Given the description of an element on the screen output the (x, y) to click on. 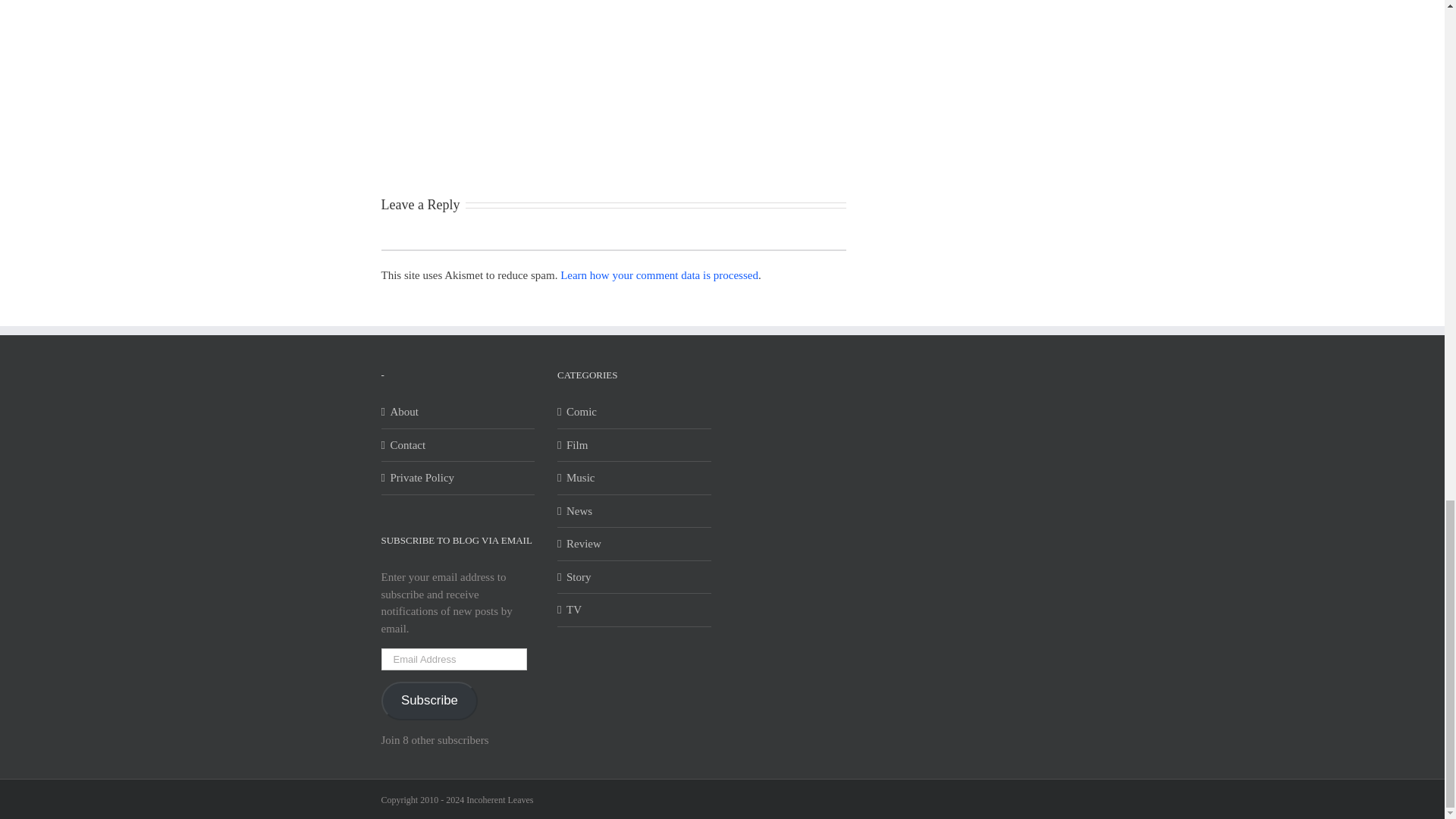
Film (634, 445)
TV (634, 610)
Learn how your comment data is processed (659, 275)
News (634, 510)
Story (634, 577)
Comic (634, 411)
Music (634, 477)
Subscribe (428, 700)
Private Policy (458, 477)
